Given the description of an element on the screen output the (x, y) to click on. 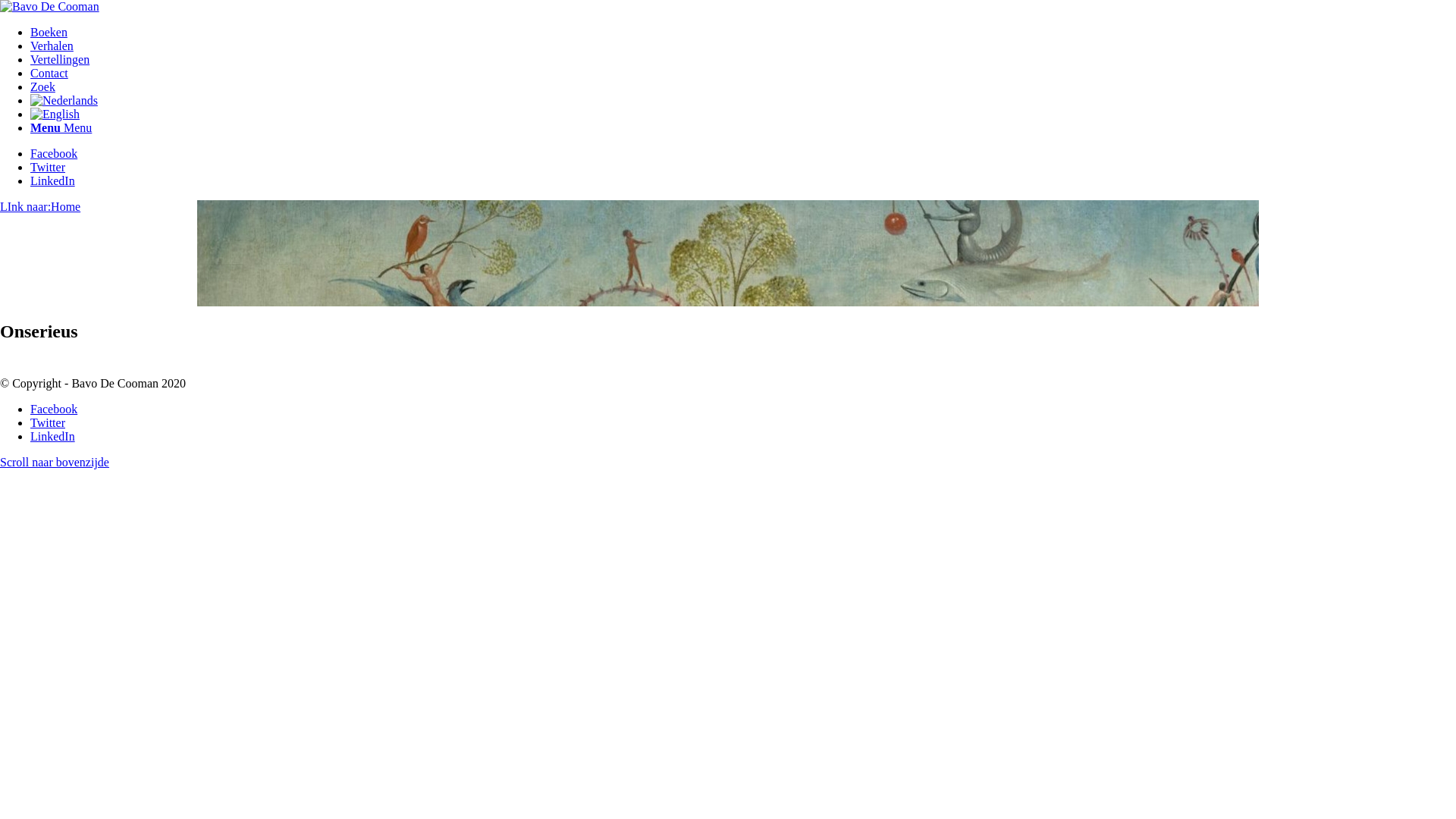
Menu Menu Element type: text (60, 127)
Facebook Element type: text (53, 408)
LinkedIn Element type: text (52, 435)
Verhalen Element type: text (51, 45)
Boeken Element type: text (48, 31)
Twitter Element type: text (47, 422)
Contact Element type: text (49, 72)
LInk naar:Home Element type: text (40, 206)
Twitter Element type: text (47, 166)
English Element type: hover (54, 114)
Nederlands Element type: hover (63, 100)
Scroll naar bovenzijde Element type: text (54, 461)
Vertellingen Element type: text (59, 59)
Zoek Element type: text (42, 86)
Facebook Element type: text (53, 153)
LinkedIn Element type: text (52, 180)
